Given the description of an element on the screen output the (x, y) to click on. 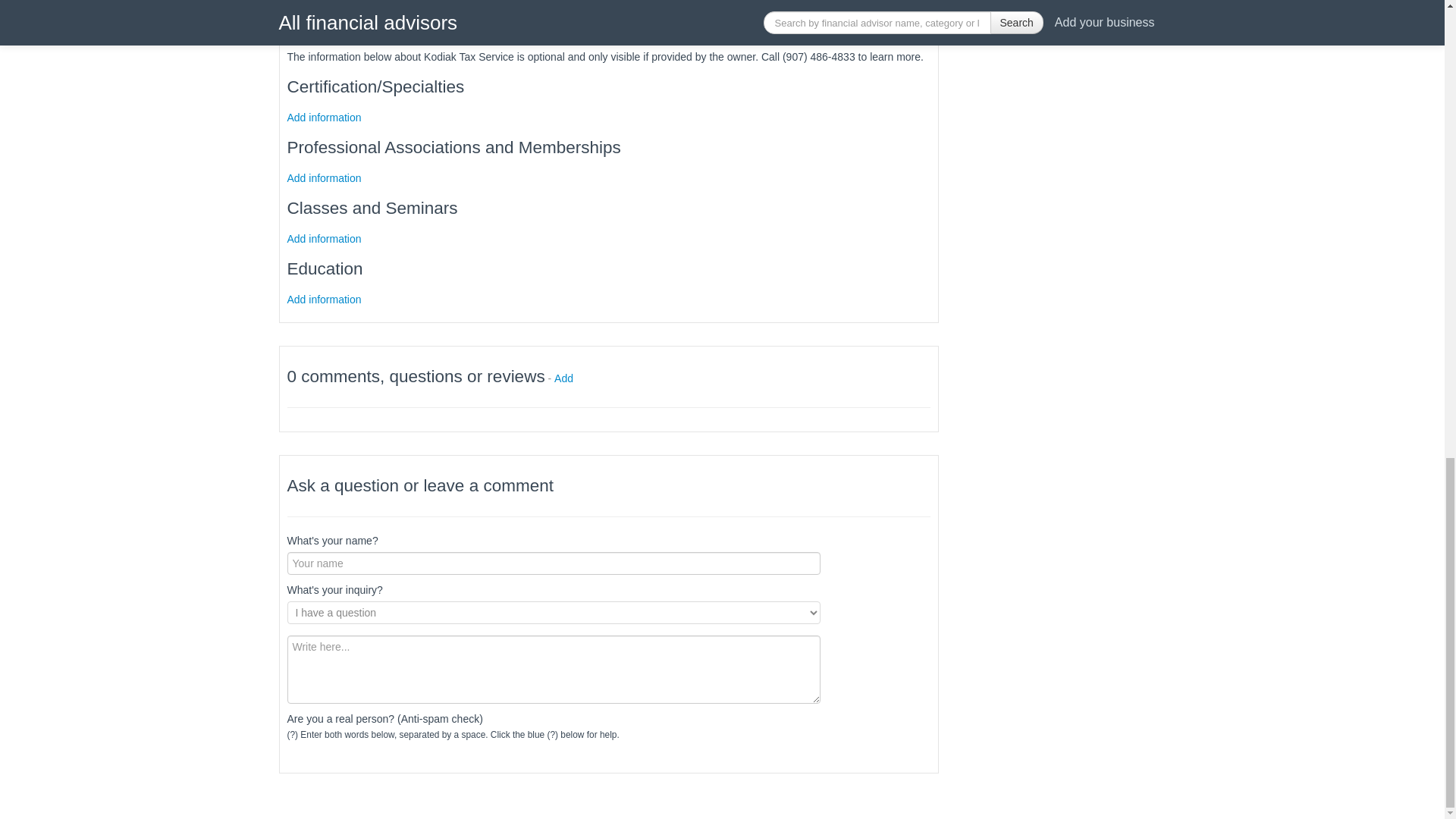
Add (563, 377)
Add information (323, 237)
Add information (323, 116)
Add information (323, 177)
Add information (323, 298)
